Given the description of an element on the screen output the (x, y) to click on. 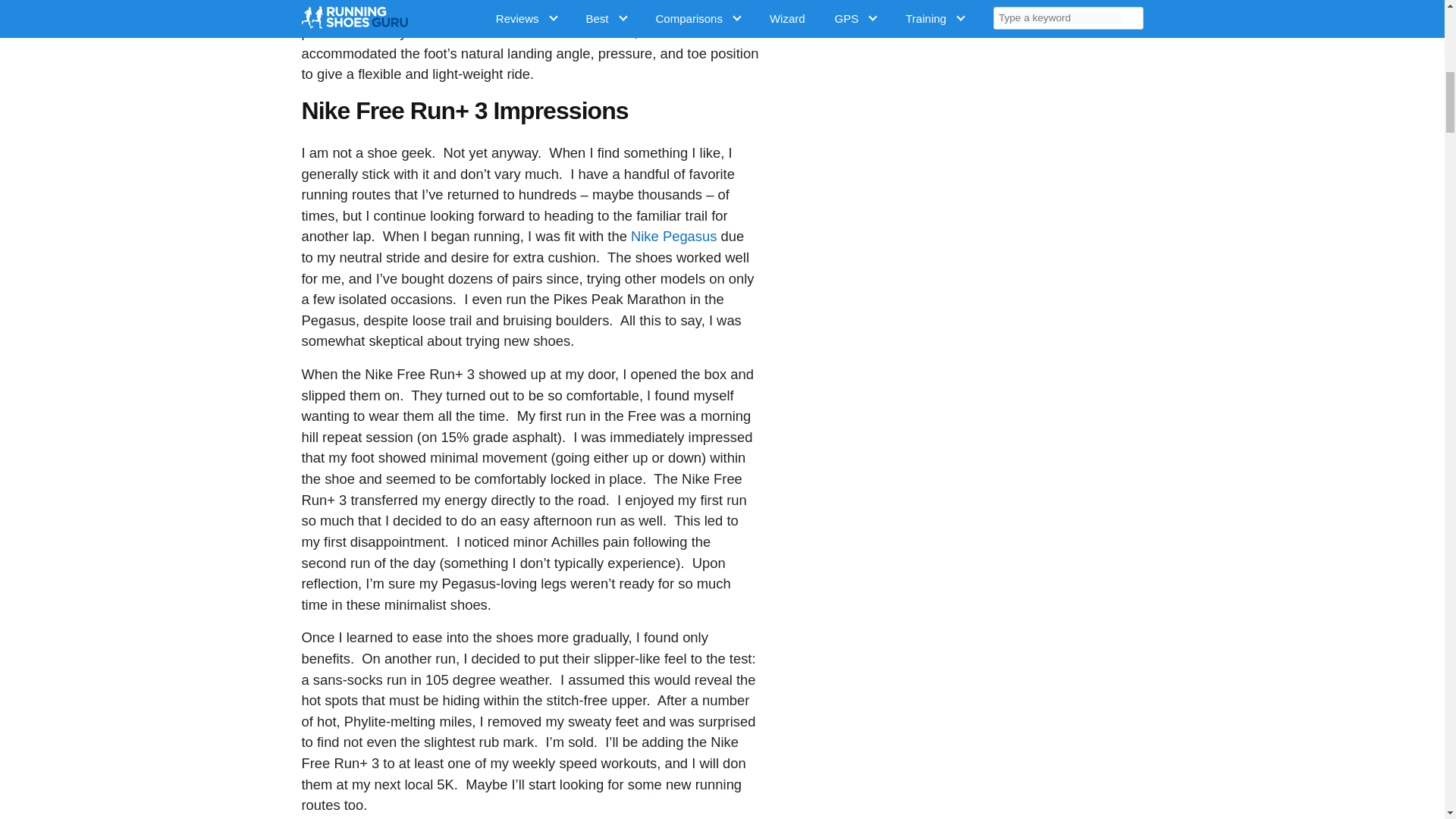
Nike Zoom Pegasus 29 Review (673, 236)
